Given the description of an element on the screen output the (x, y) to click on. 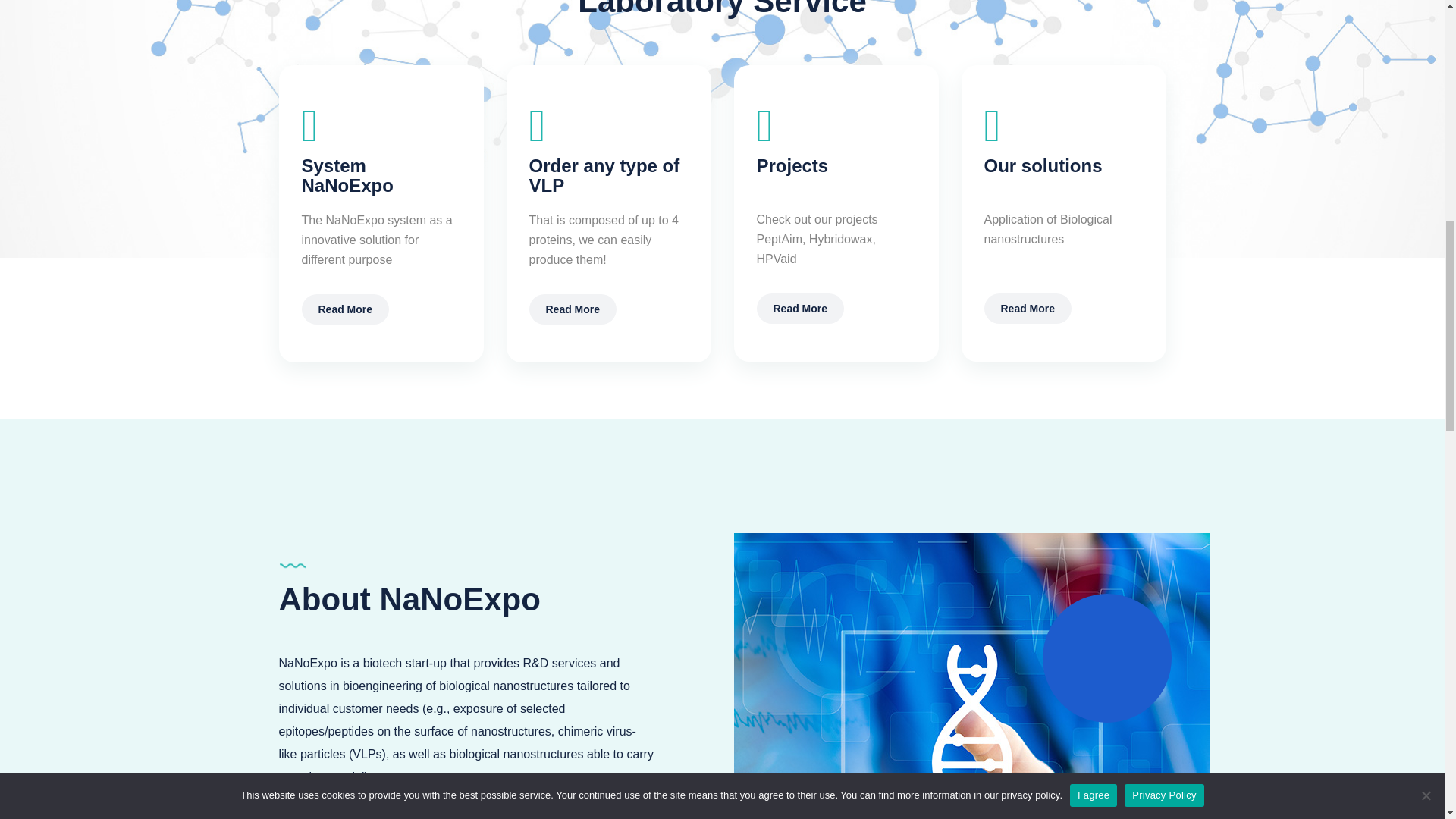
Search Now! (1016, 148)
